Given the description of an element on the screen output the (x, y) to click on. 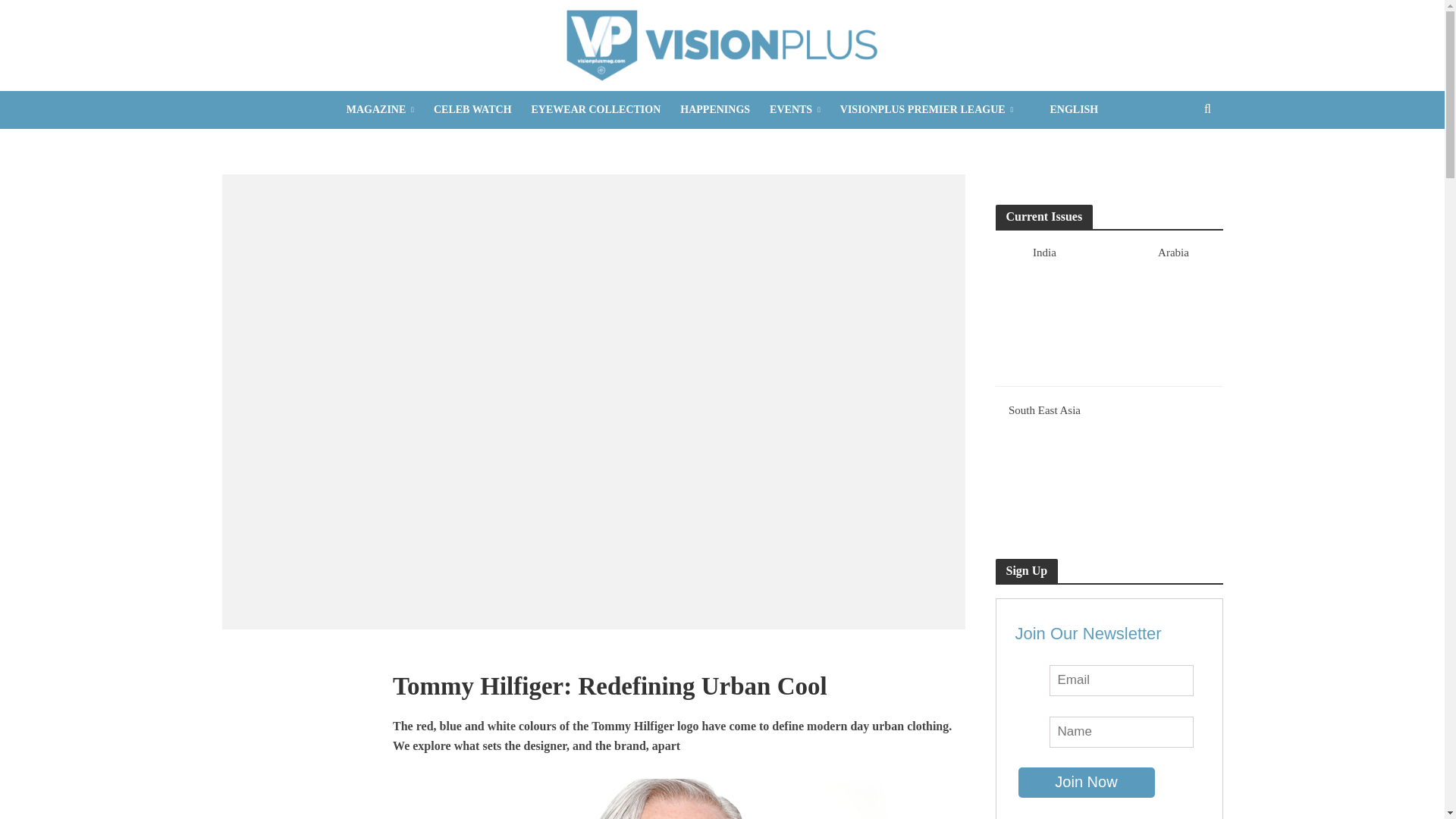
VISIONPLUS PREMIER LEAGUE (926, 109)
EYEWEAR COLLECTION (596, 109)
Join Now (1085, 782)
EVENTS (794, 109)
ENGLISH (1065, 109)
HAPPENINGS (714, 109)
English (1065, 109)
CELEB WATCH (472, 109)
MAGAZINE (379, 109)
